Given the description of an element on the screen output the (x, y) to click on. 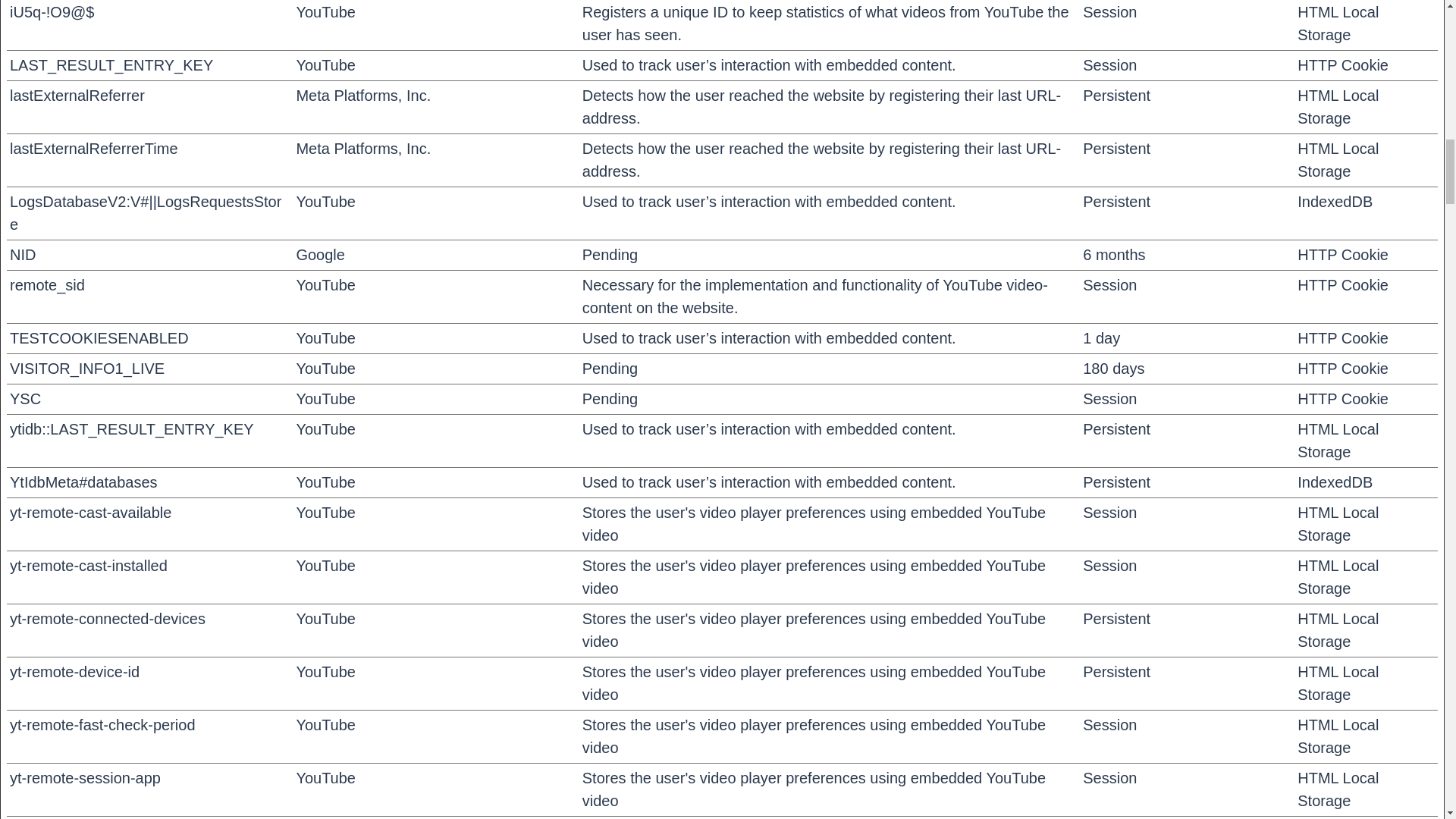
YouTube (325, 565)
YouTube's privacy policy (325, 64)
 Meta Platforms, Inc.'s privacy policy (362, 95)
YouTube (325, 618)
YouTube (325, 398)
YouTube (325, 64)
YouTube (325, 201)
YouTube's privacy policy (325, 201)
YouTube (325, 284)
 Meta Platforms, Inc.'s privacy policy (362, 148)
